Given the description of an element on the screen output the (x, y) to click on. 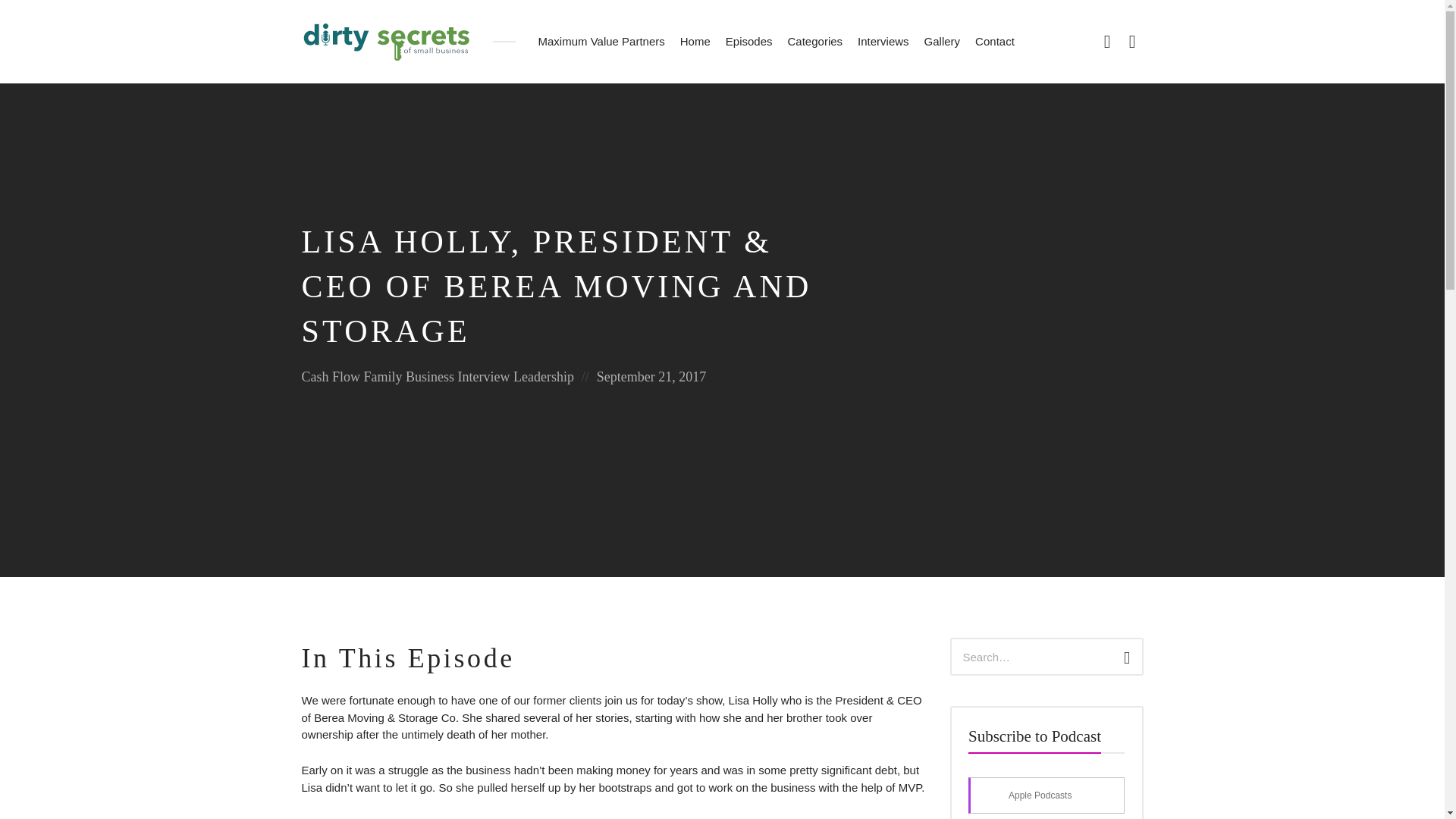
Cash Flow (331, 376)
Family Business (409, 376)
Maximum Value Partners (601, 42)
September 21, 2017 (651, 376)
Leadership (543, 376)
Episodes (748, 42)
Categories (815, 42)
Home (694, 42)
Interviews (883, 42)
iTunes (1131, 41)
Interview (484, 376)
Subscribe on Apple Podcasts (1046, 795)
Contact (995, 42)
Gallery (942, 42)
Twitter (1107, 41)
